Given the description of an element on the screen output the (x, y) to click on. 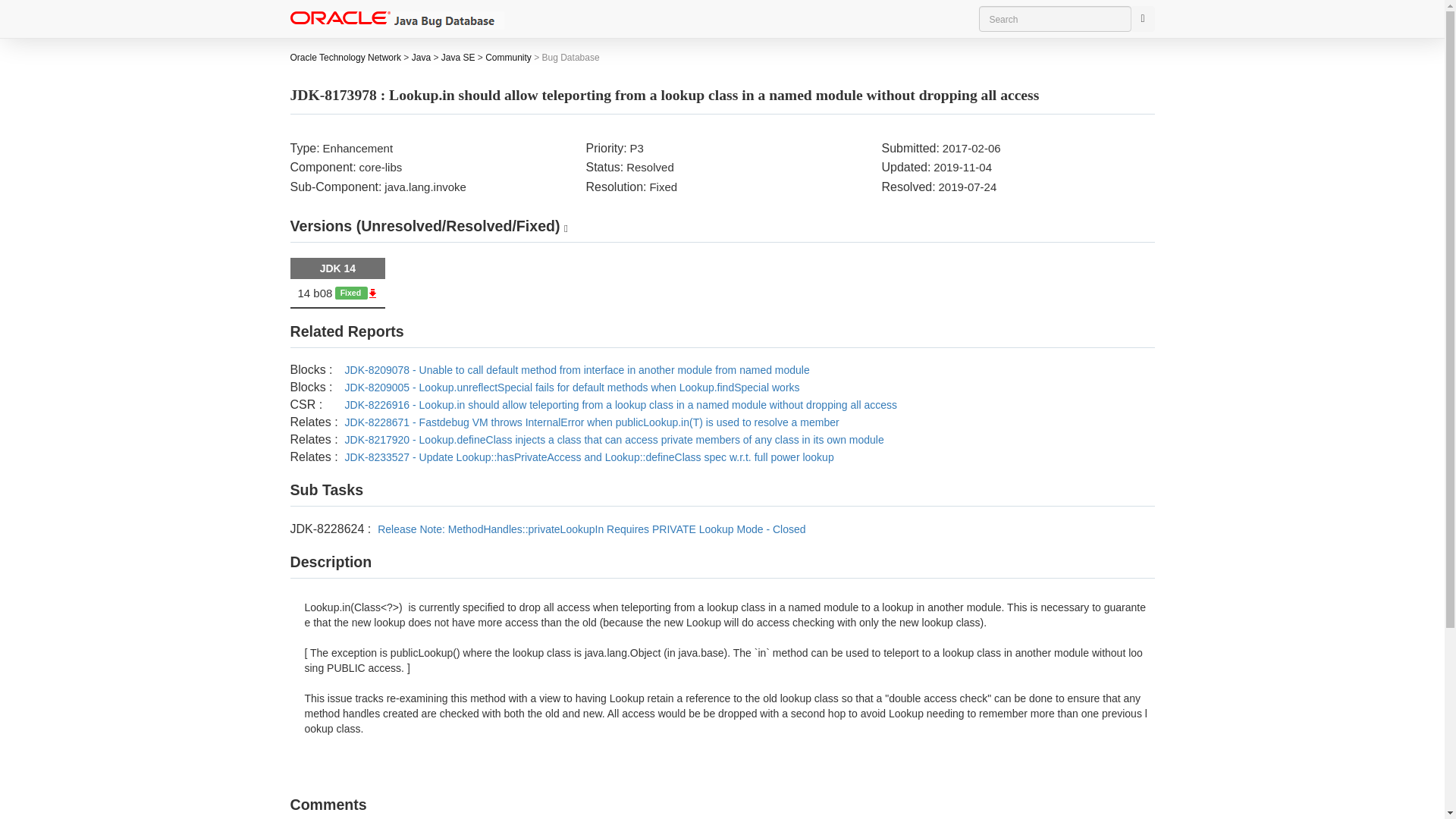
Oracle Technology Network (345, 57)
Java (421, 57)
Java SE (458, 57)
Search Java bugs (1054, 18)
